Given the description of an element on the screen output the (x, y) to click on. 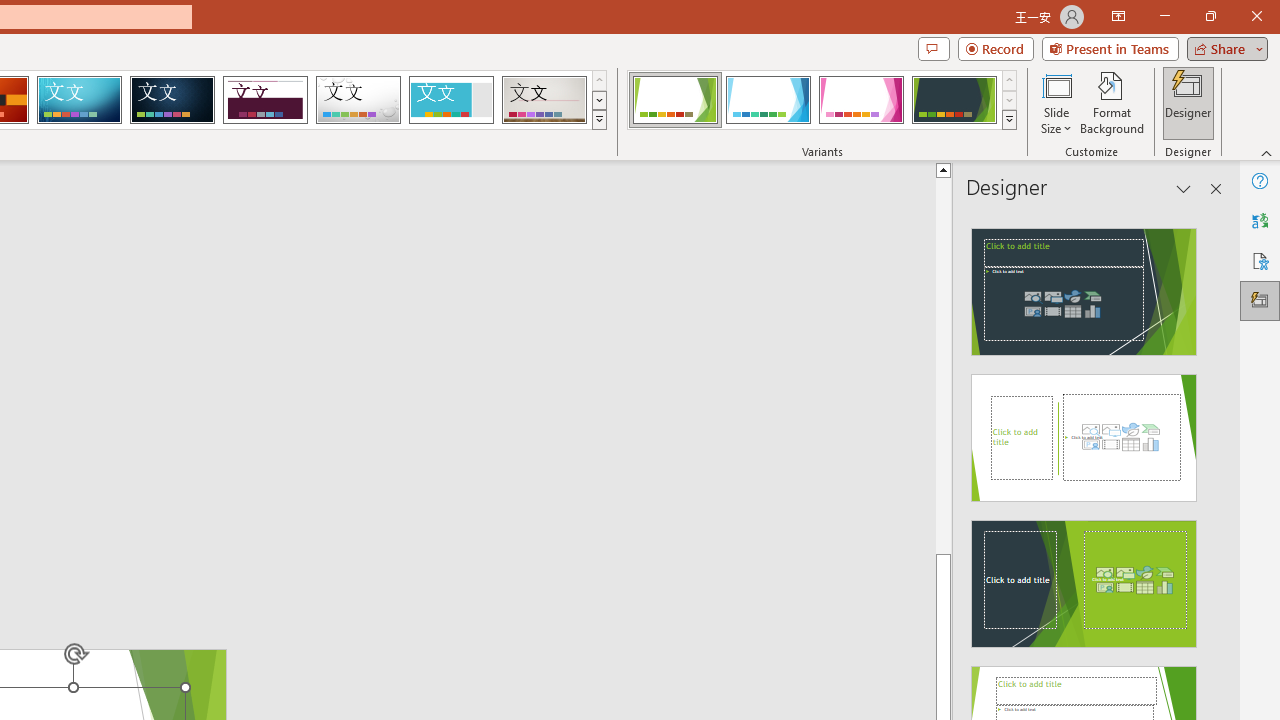
Droplet (358, 100)
Slide Size (1056, 102)
Variants (1009, 120)
Themes (598, 120)
Recommended Design: Design Idea (1083, 286)
